Given the description of an element on the screen output the (x, y) to click on. 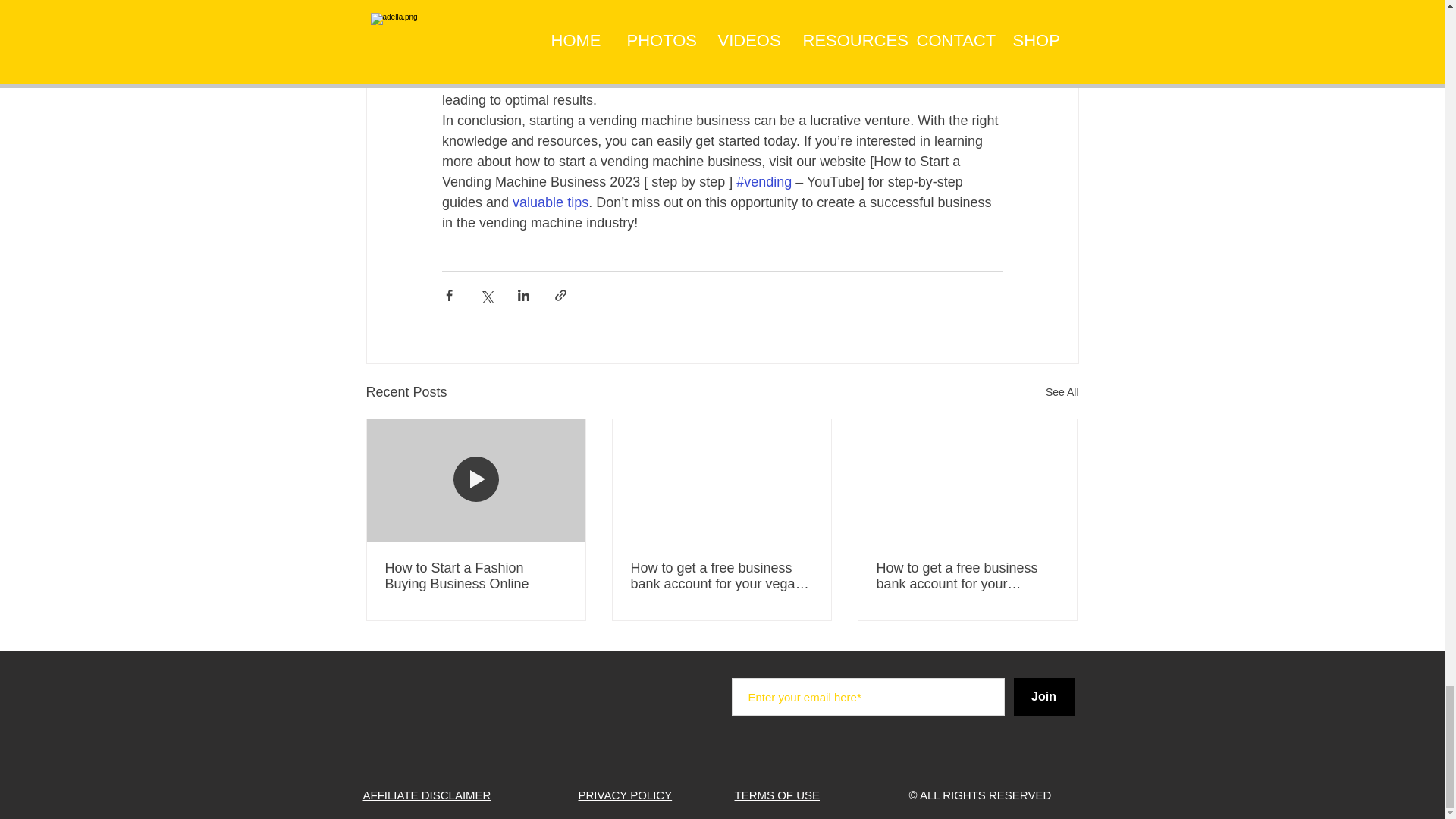
See All (1061, 392)
How to Start a Fashion Buying Business Online (476, 576)
valuable tips (550, 201)
